Given the description of an element on the screen output the (x, y) to click on. 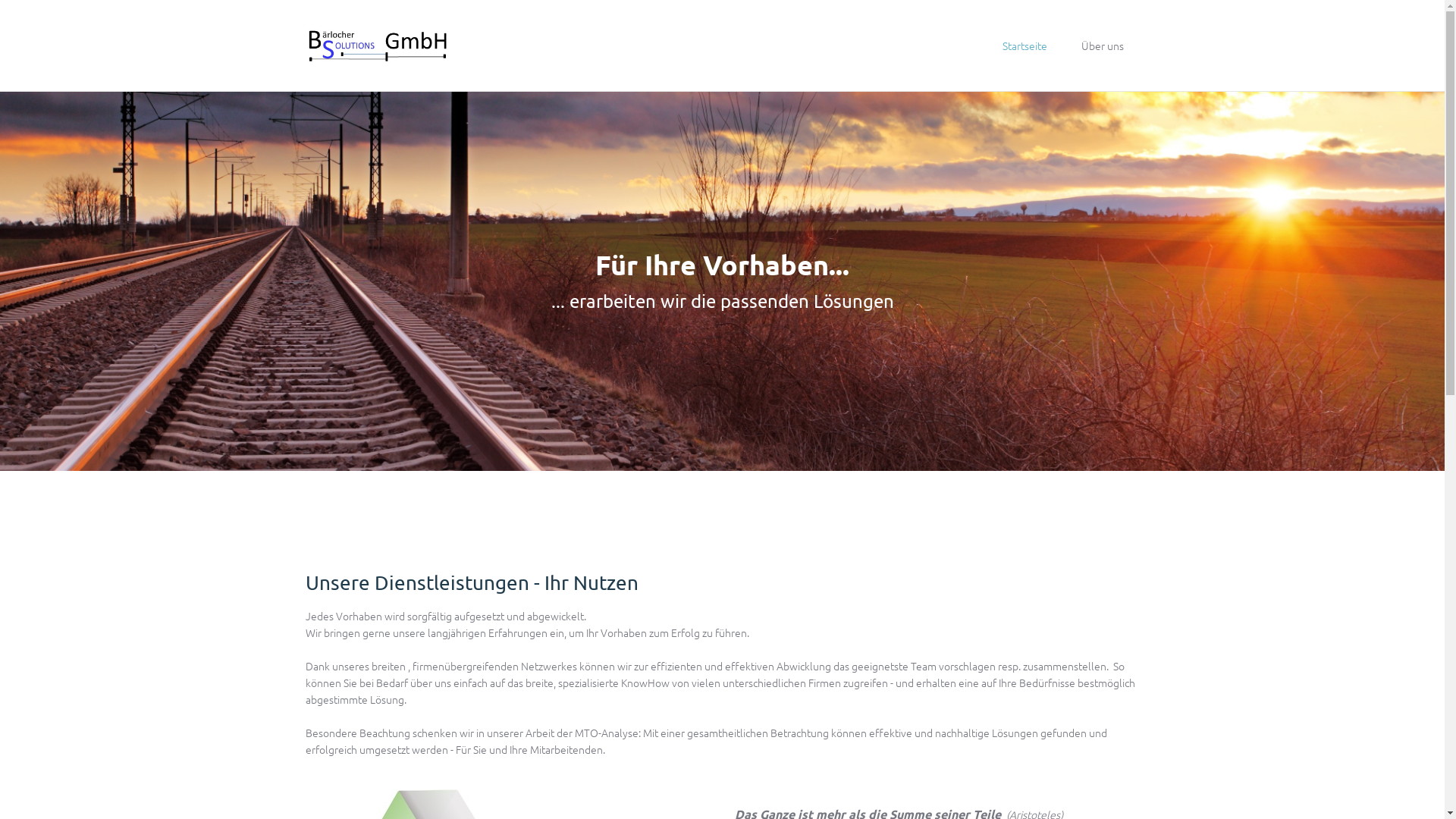
Startseite Element type: text (1024, 45)
